Given the description of an element on the screen output the (x, y) to click on. 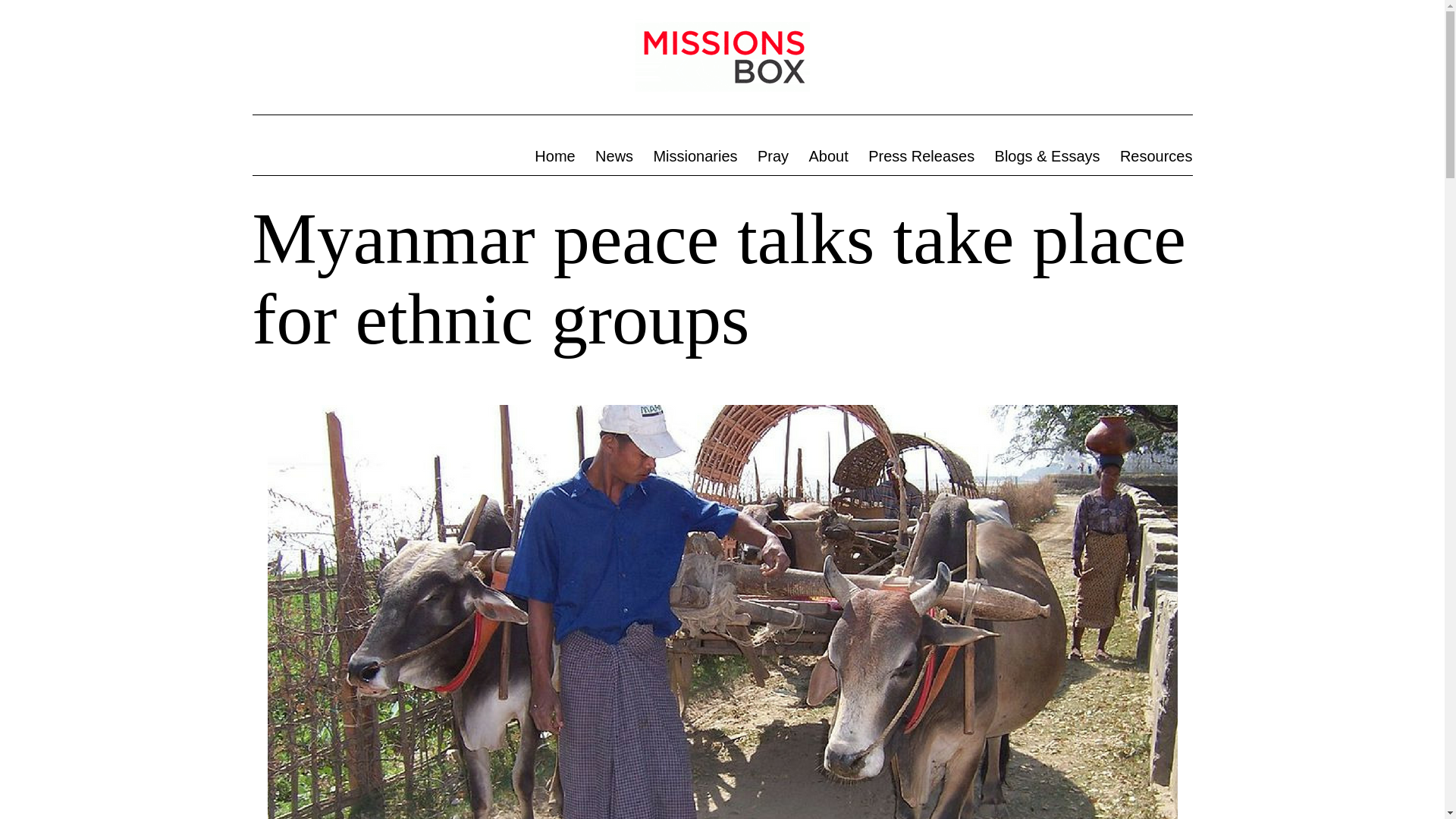
Resources (1155, 156)
News (614, 156)
Missionaries (695, 156)
Missions Box Home Page (554, 156)
About (828, 156)
Home (554, 156)
About (828, 156)
Press Releases (921, 156)
Missions Box Press Releases (921, 156)
Pray (773, 156)
